Given the description of an element on the screen output the (x, y) to click on. 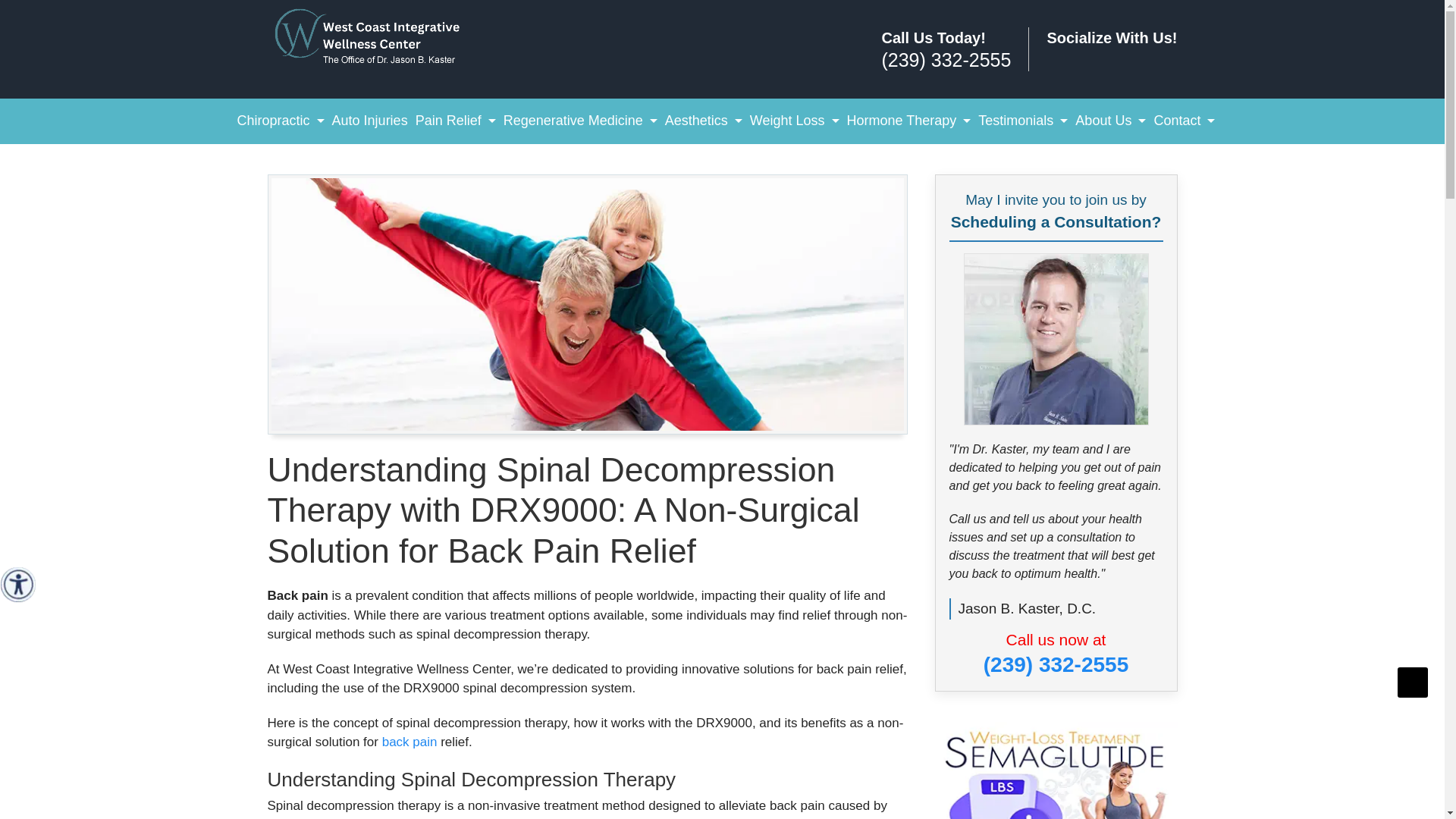
Back to the Top (1412, 682)
Auto Injuries (370, 121)
Pain Relief (455, 121)
Regenerative Medicine (580, 121)
Chiropractic (280, 121)
Accessibility Helper sidebar (18, 584)
Home (379, 38)
